Given the description of an element on the screen output the (x, y) to click on. 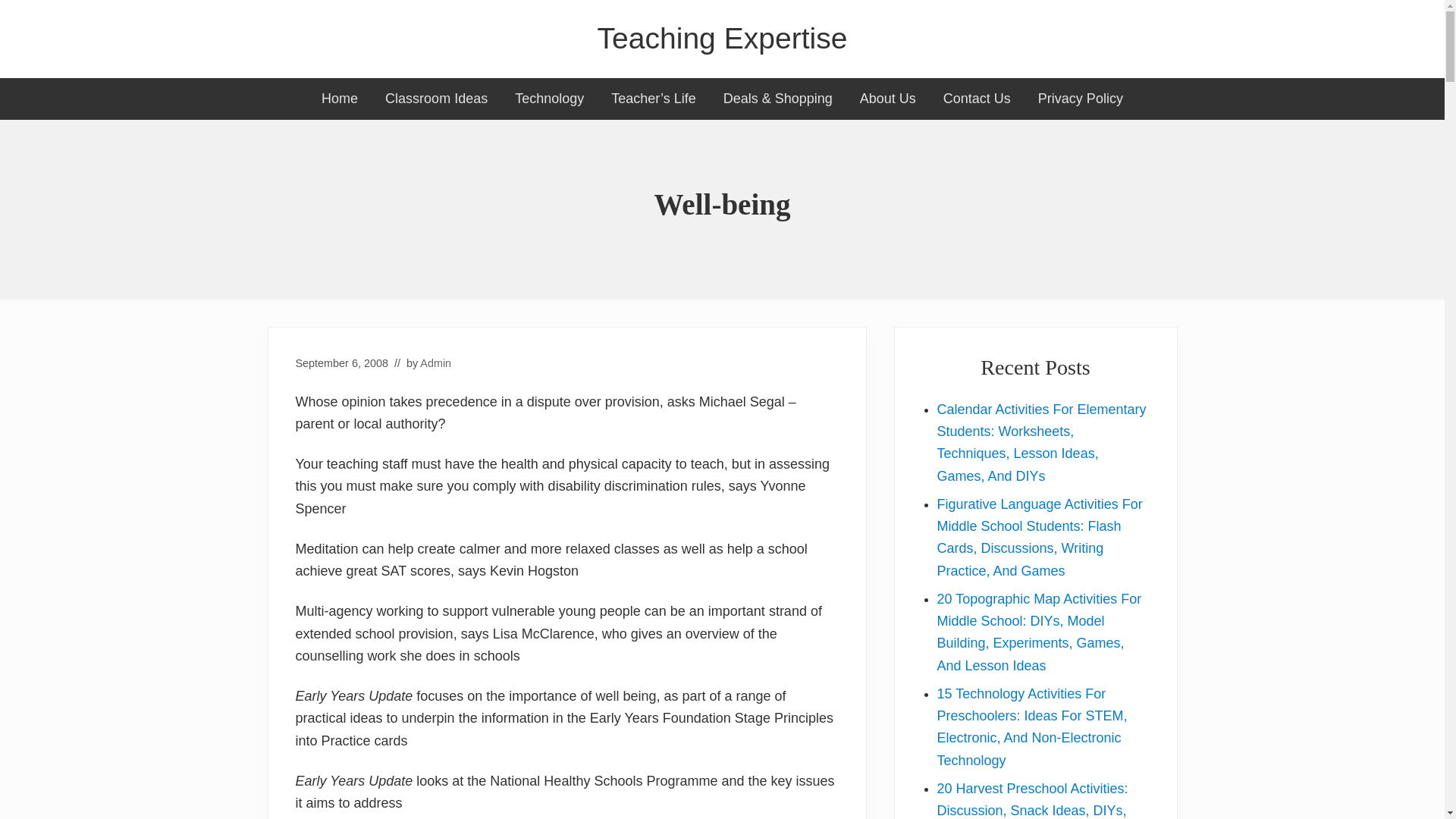
Contact Us (977, 98)
Home (339, 98)
Technology (548, 98)
Teaching Expertise (721, 38)
Admin (435, 363)
Privacy Policy (1081, 98)
